Given the description of an element on the screen output the (x, y) to click on. 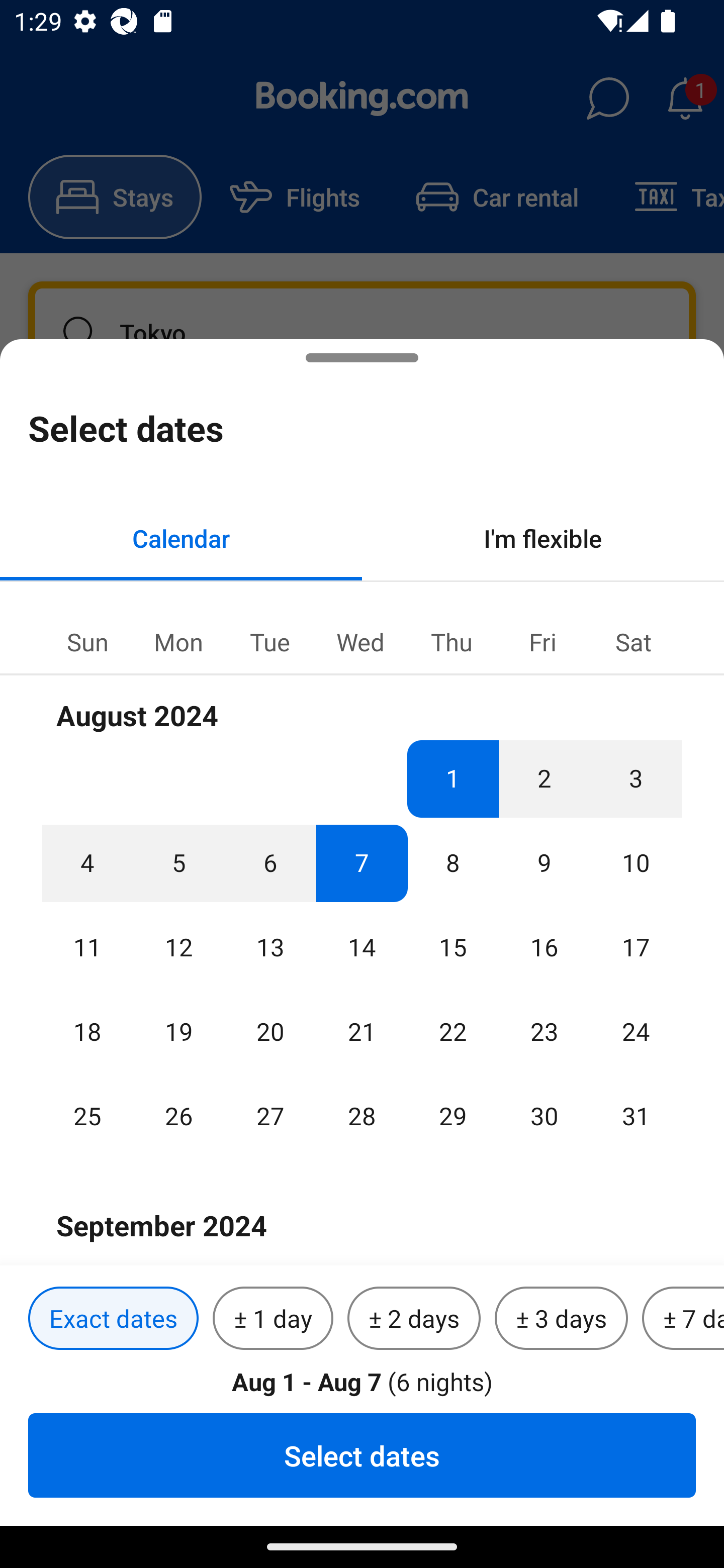
I'm flexible (543, 537)
Exact dates (113, 1318)
± 1 day (272, 1318)
± 2 days (413, 1318)
± 3 days (560, 1318)
± 7 days (683, 1318)
Select dates (361, 1454)
